Given the description of an element on the screen output the (x, y) to click on. 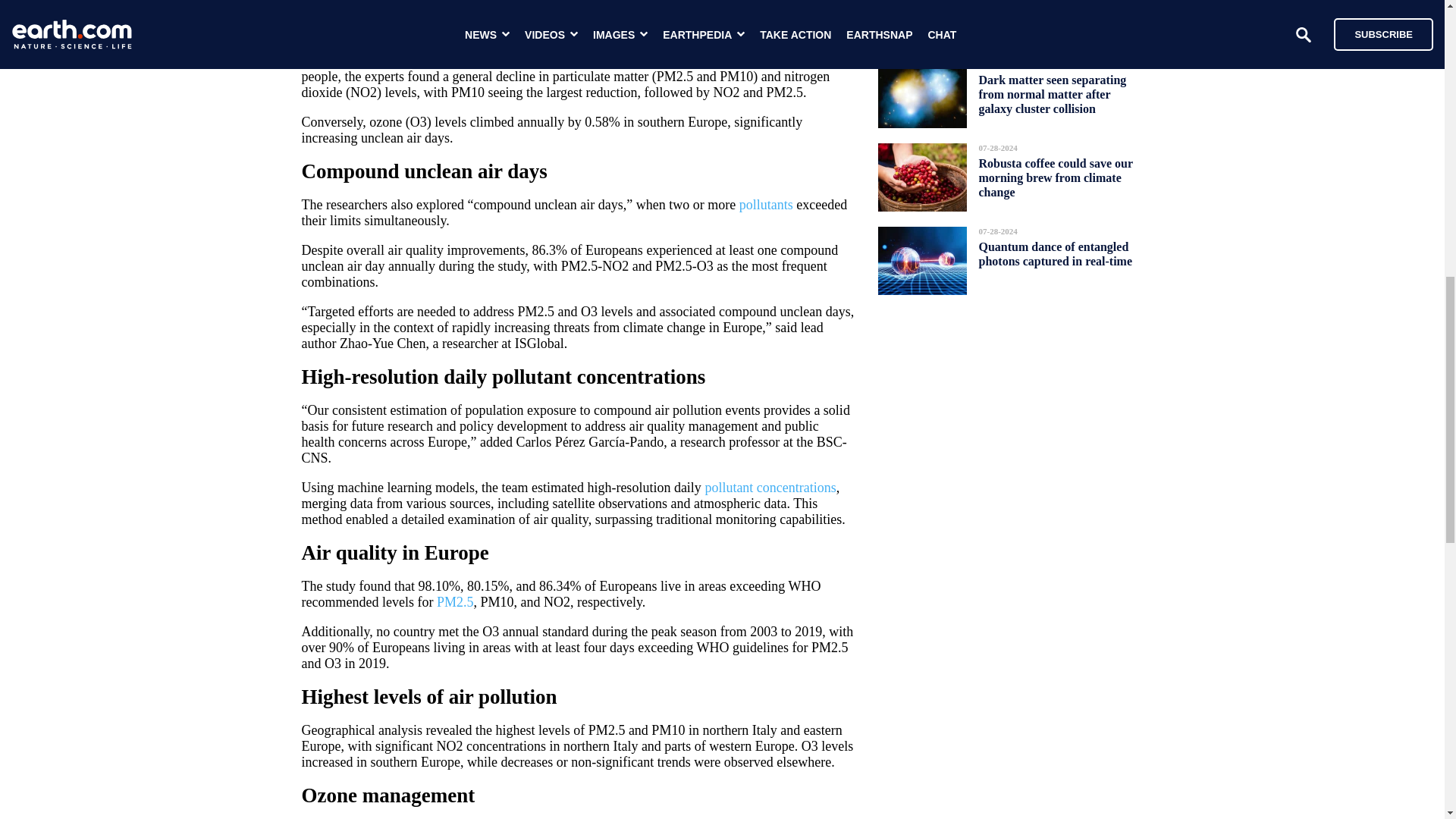
pollutants (766, 204)
PM2.5 (455, 601)
pollutant concentrations (769, 487)
Cicada wings inspire new antibacterial technologies (1044, 12)
